Given the description of an element on the screen output the (x, y) to click on. 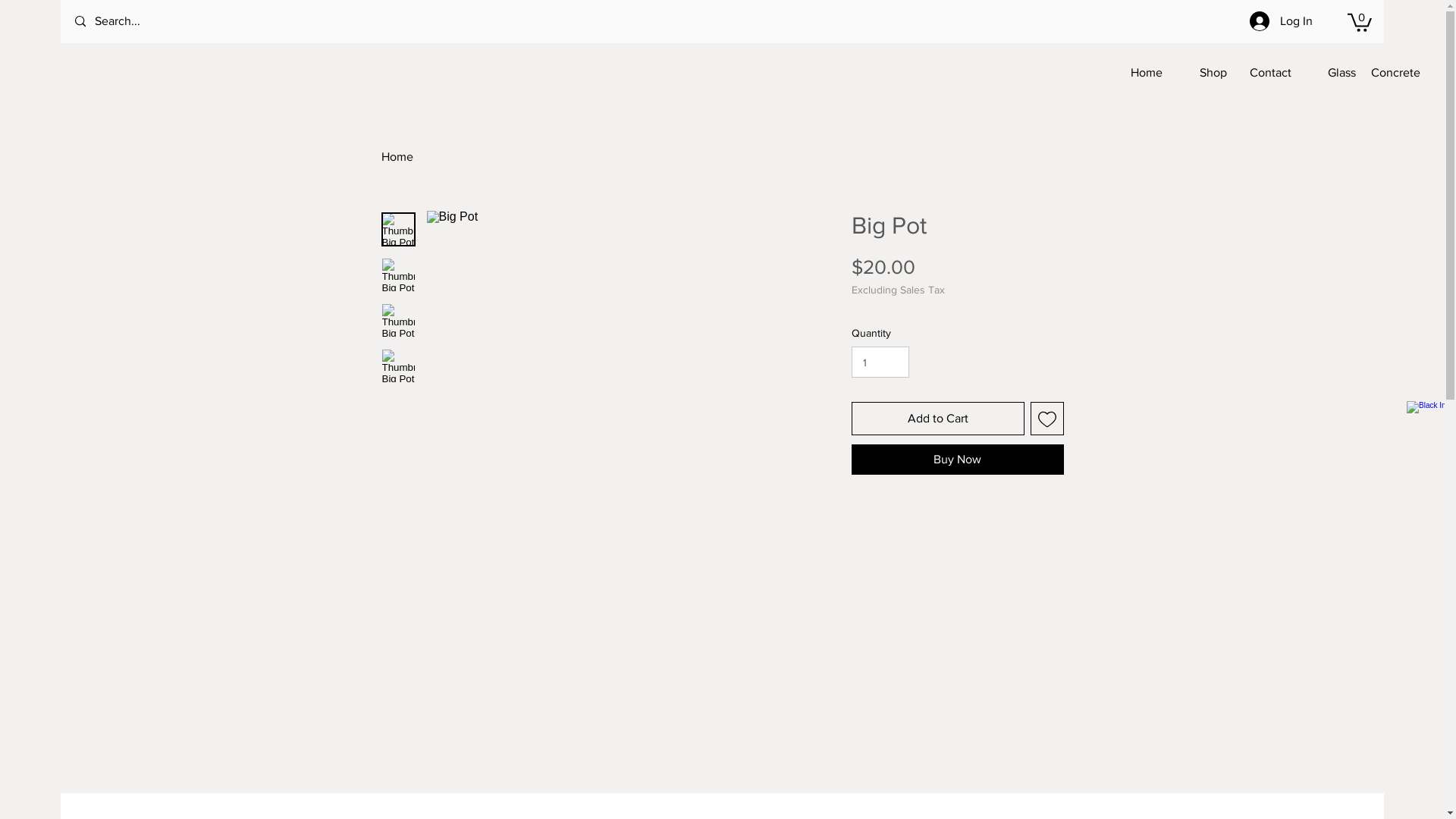
Home Element type: text (1137, 72)
0 Element type: text (1359, 21)
Log In Element type: text (1281, 20)
Concrete Element type: text (1395, 72)
Shop Element type: text (1202, 72)
Home Element type: text (396, 156)
Buy Now Element type: text (956, 459)
Contact Element type: text (1266, 72)
Glass Element type: text (1331, 72)
Add to Cart Element type: text (936, 418)
